Given the description of an element on the screen output the (x, y) to click on. 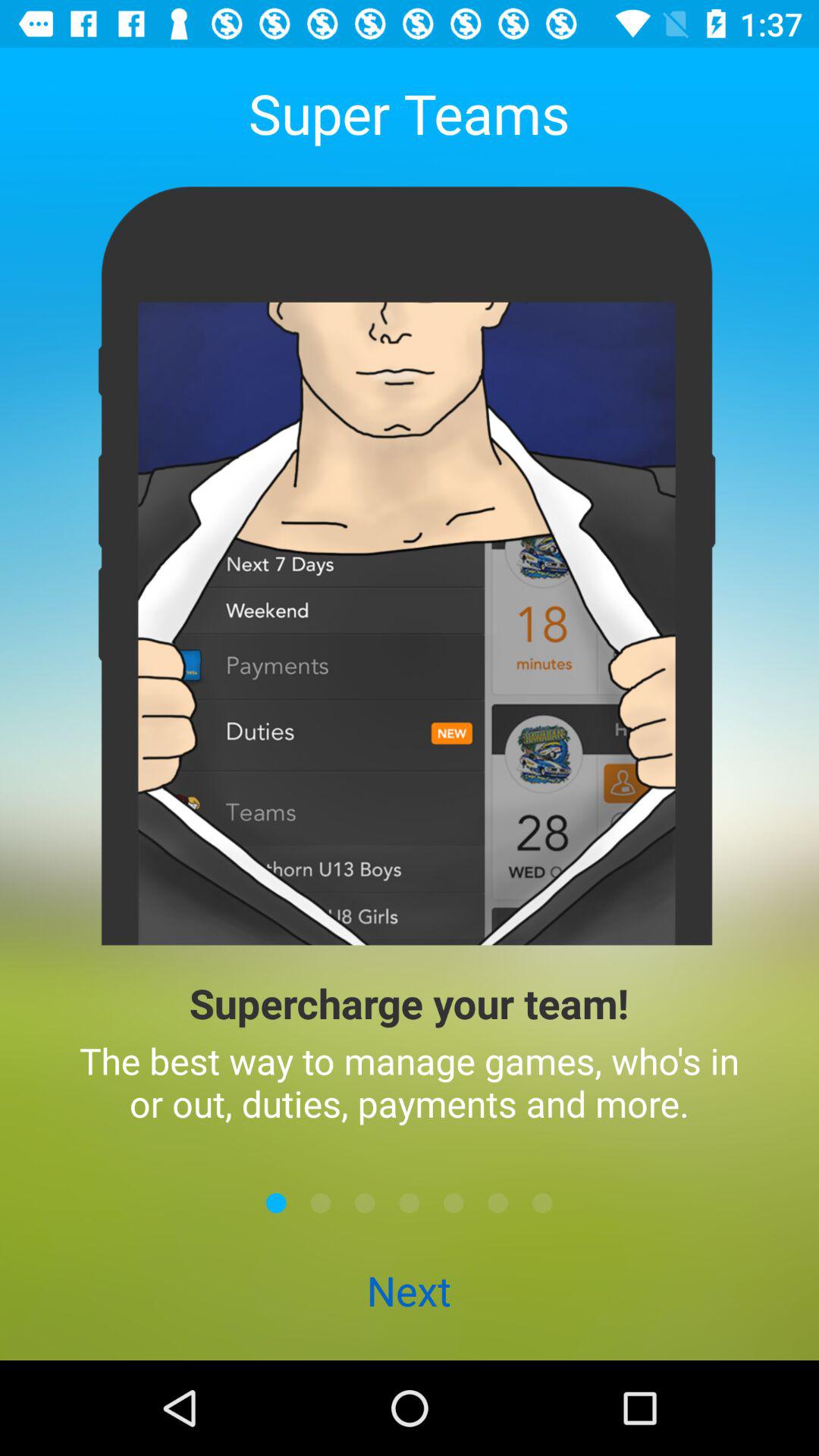
click icon below the best way (542, 1203)
